Given the description of an element on the screen output the (x, y) to click on. 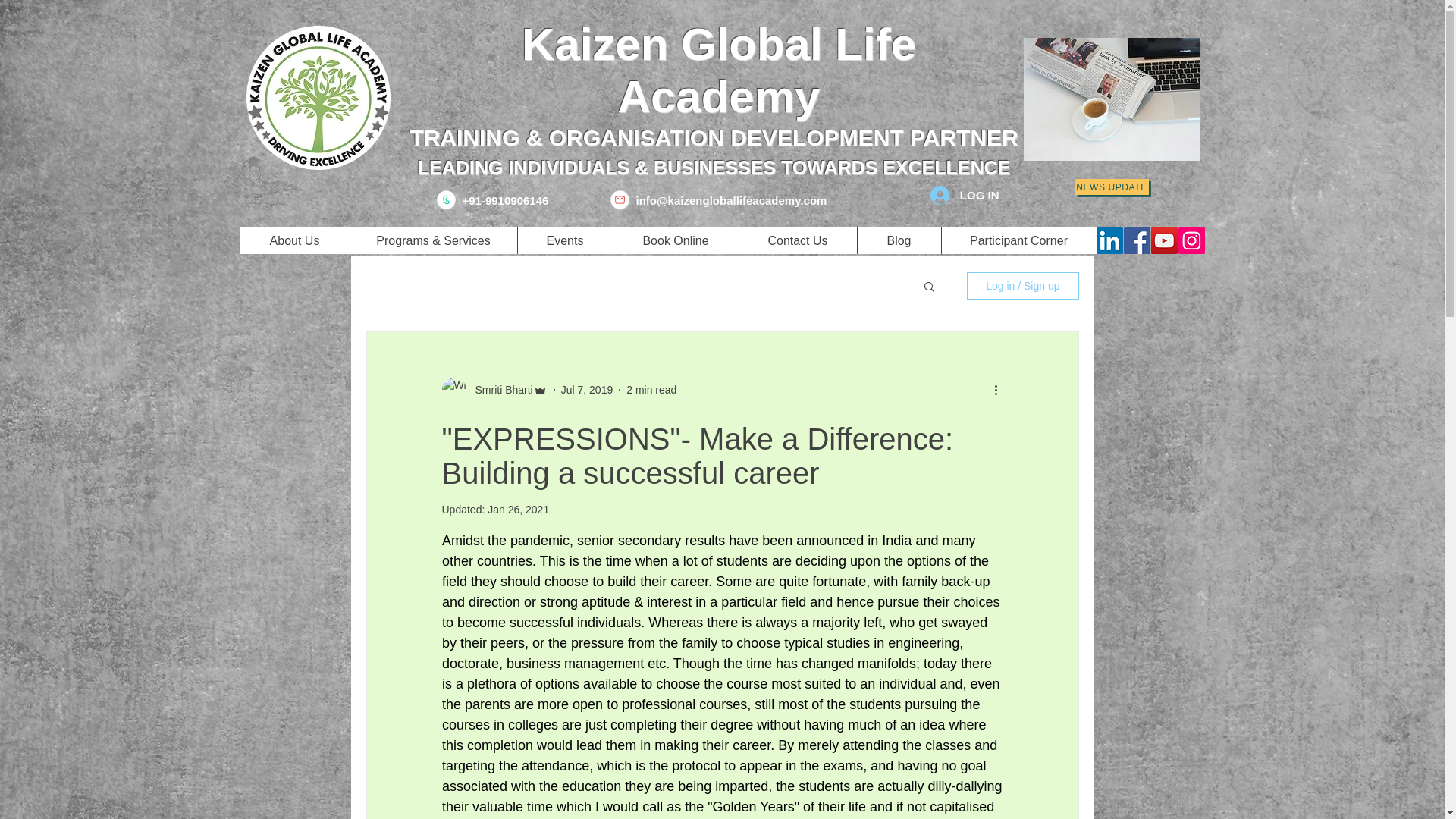
Book Online (675, 240)
Jan 26, 2021 (517, 509)
NEWS UPDATE (1111, 186)
Smriti Bharti (494, 389)
Participant Corner (1018, 240)
About Us (294, 240)
Contact Us (797, 240)
Blog (898, 240)
Smriti Bharti (498, 390)
LOG IN (965, 194)
